Given the description of an element on the screen output the (x, y) to click on. 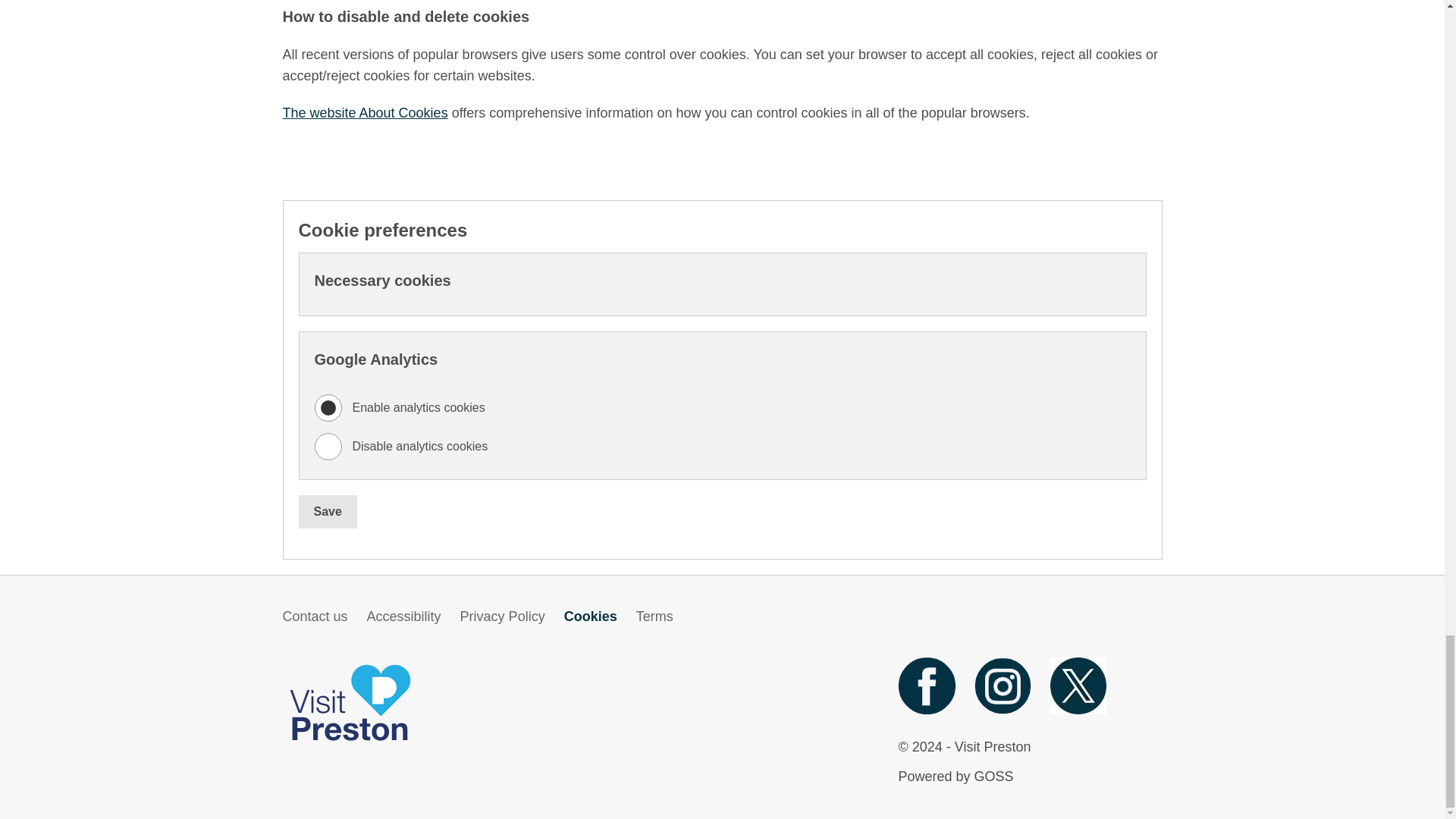
The website About Cookies (364, 112)
Save (327, 511)
Terms (654, 616)
Contact us (314, 616)
Privacy Policy (502, 616)
Visit Preston Facebook : opens on new browser window or tab (926, 709)
Visit Preston X : opens on new browser window or tab (1077, 709)
Accessibility (403, 616)
Visit Preston Instagram : opens on new browser window or tab (1002, 709)
Powered by GOSS (955, 776)
